Given the description of an element on the screen output the (x, y) to click on. 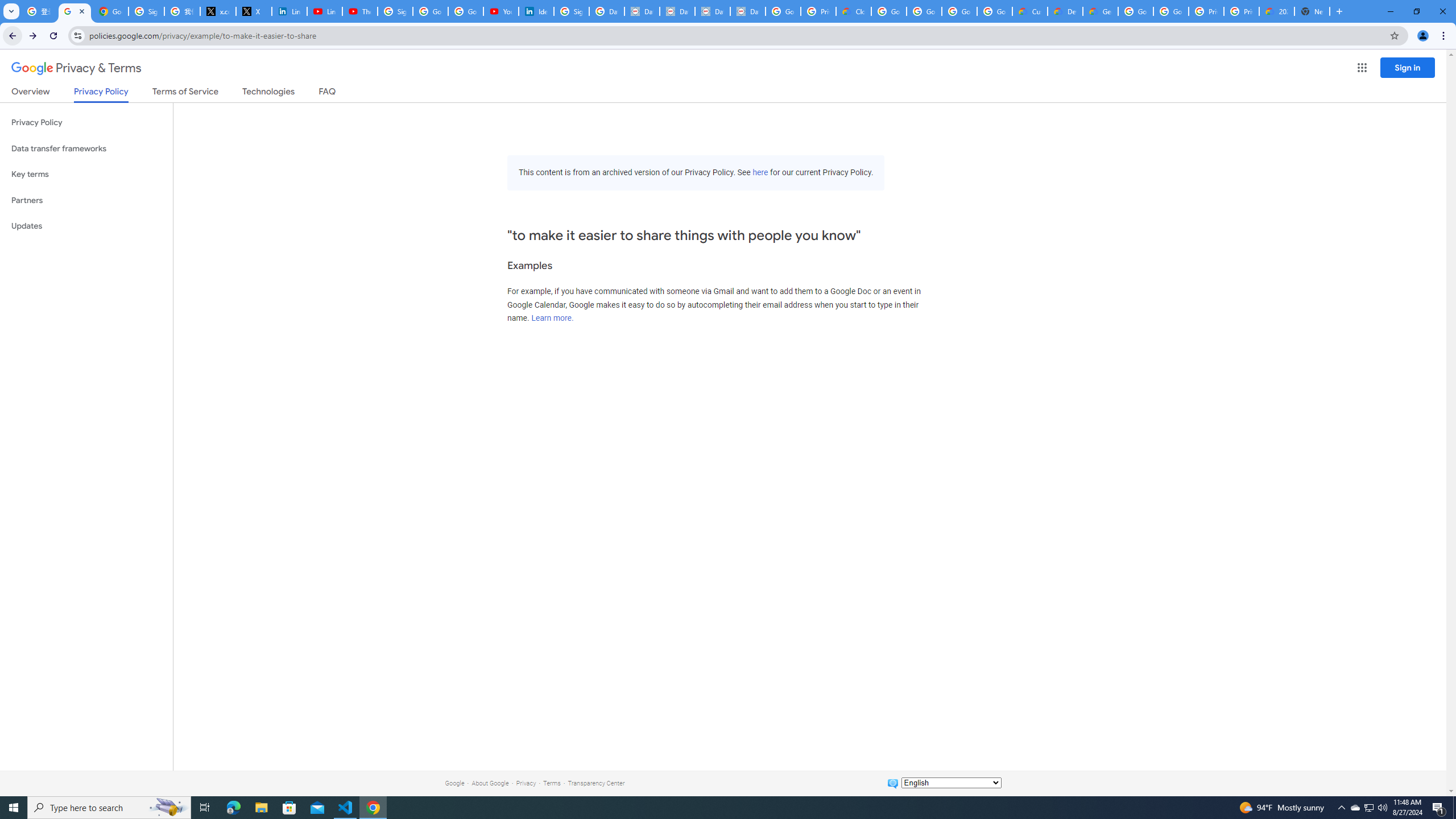
Google Cloud Platform (1135, 11)
X (253, 11)
Cloud Data Processing Addendum | Google Cloud (853, 11)
Sign in - Google Accounts (394, 11)
Google (454, 783)
